Given the description of an element on the screen output the (x, y) to click on. 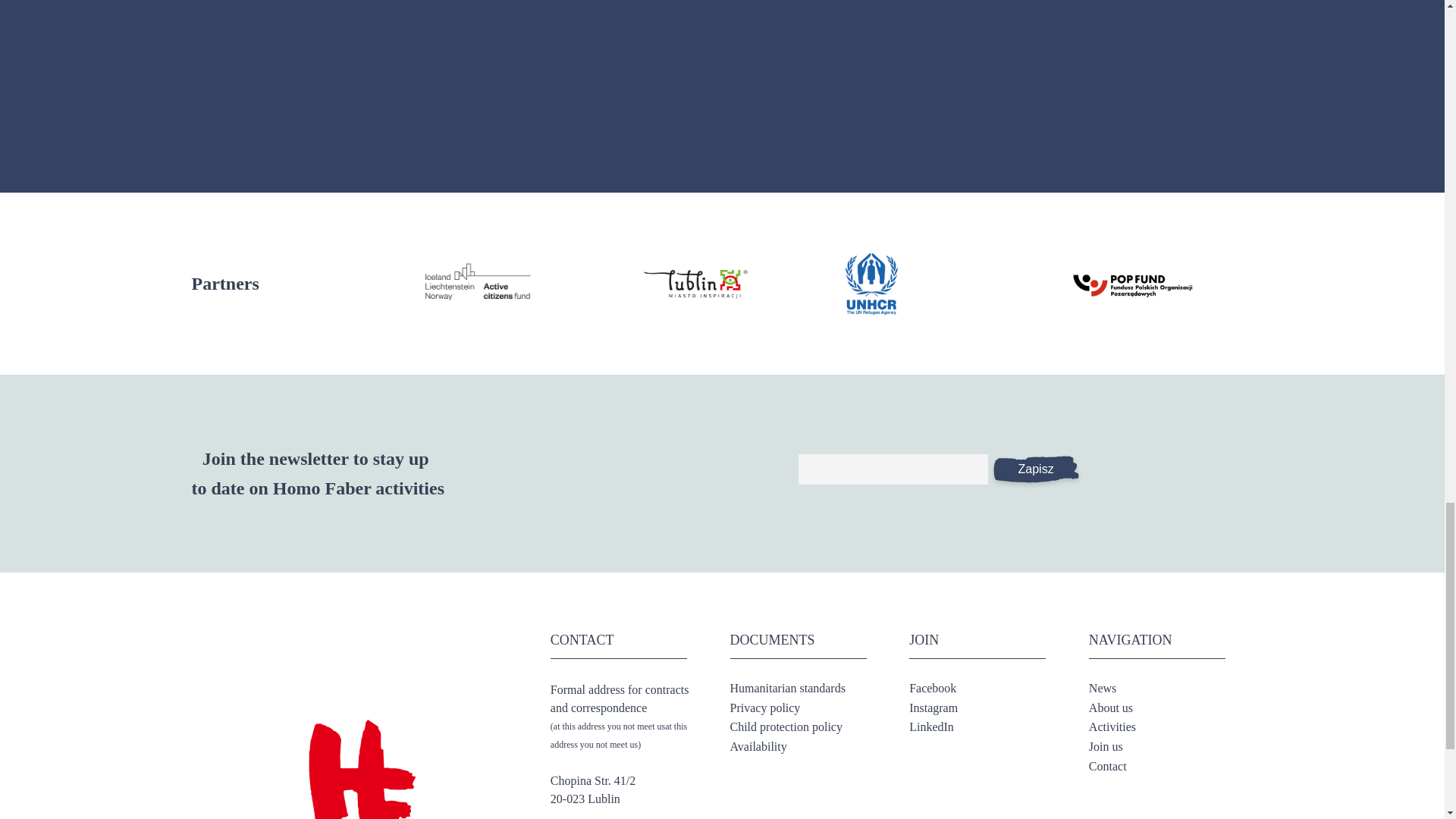
Zapisz (1035, 469)
